Given the description of an element on the screen output the (x, y) to click on. 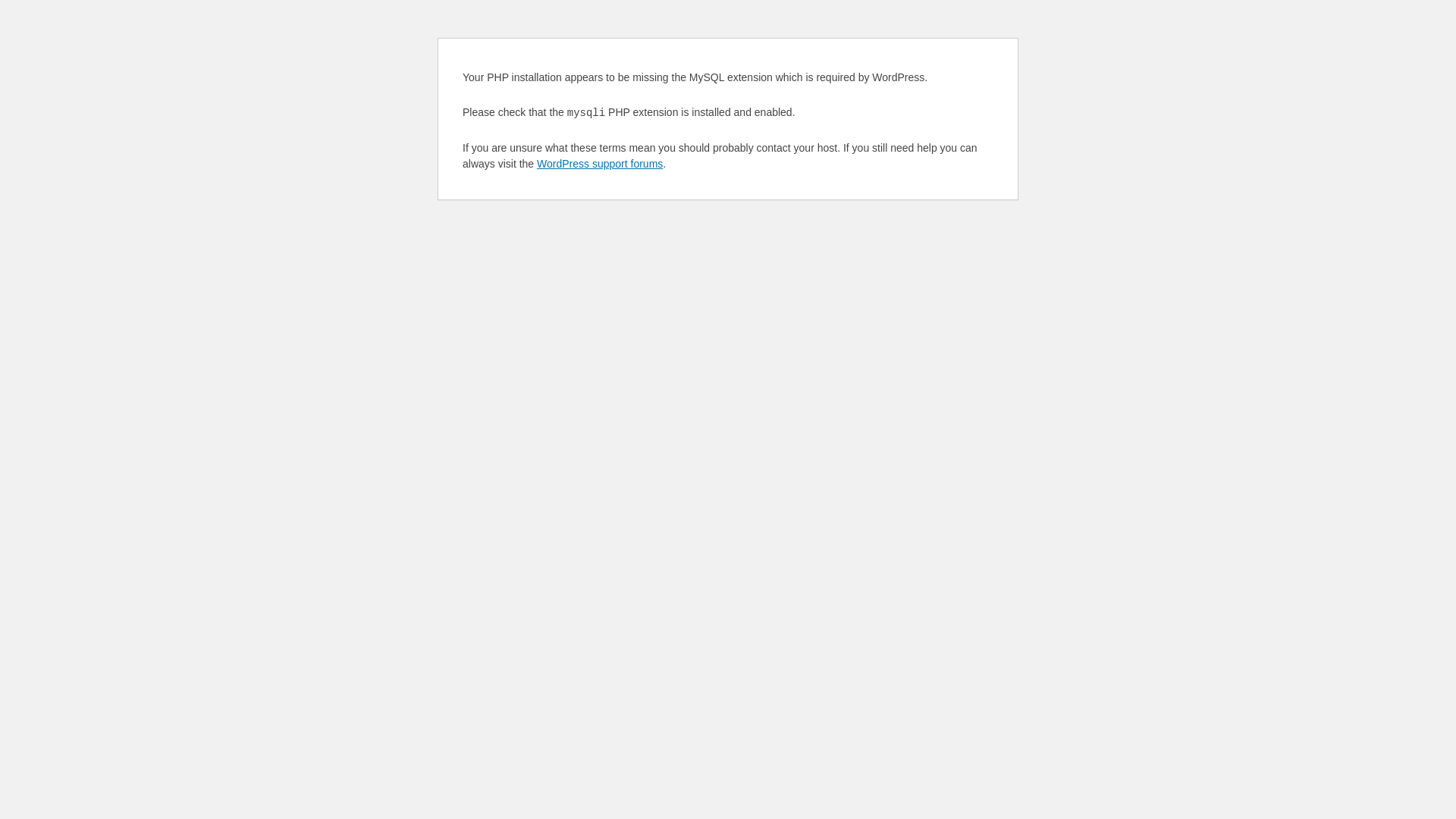
WordPress support forums Element type: text (599, 163)
